Given the description of an element on the screen output the (x, y) to click on. 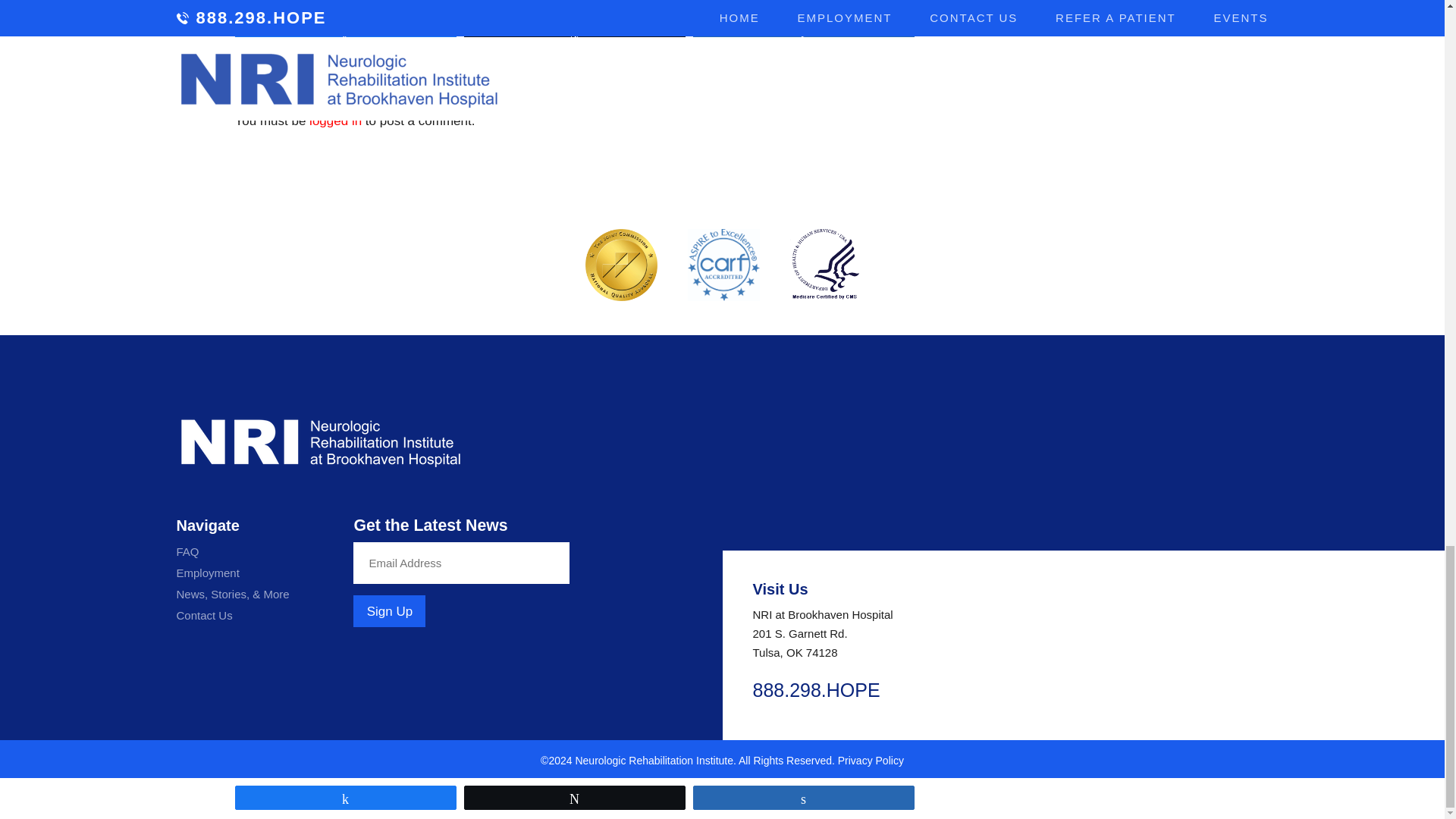
Sign Up (389, 611)
